Given the description of an element on the screen output the (x, y) to click on. 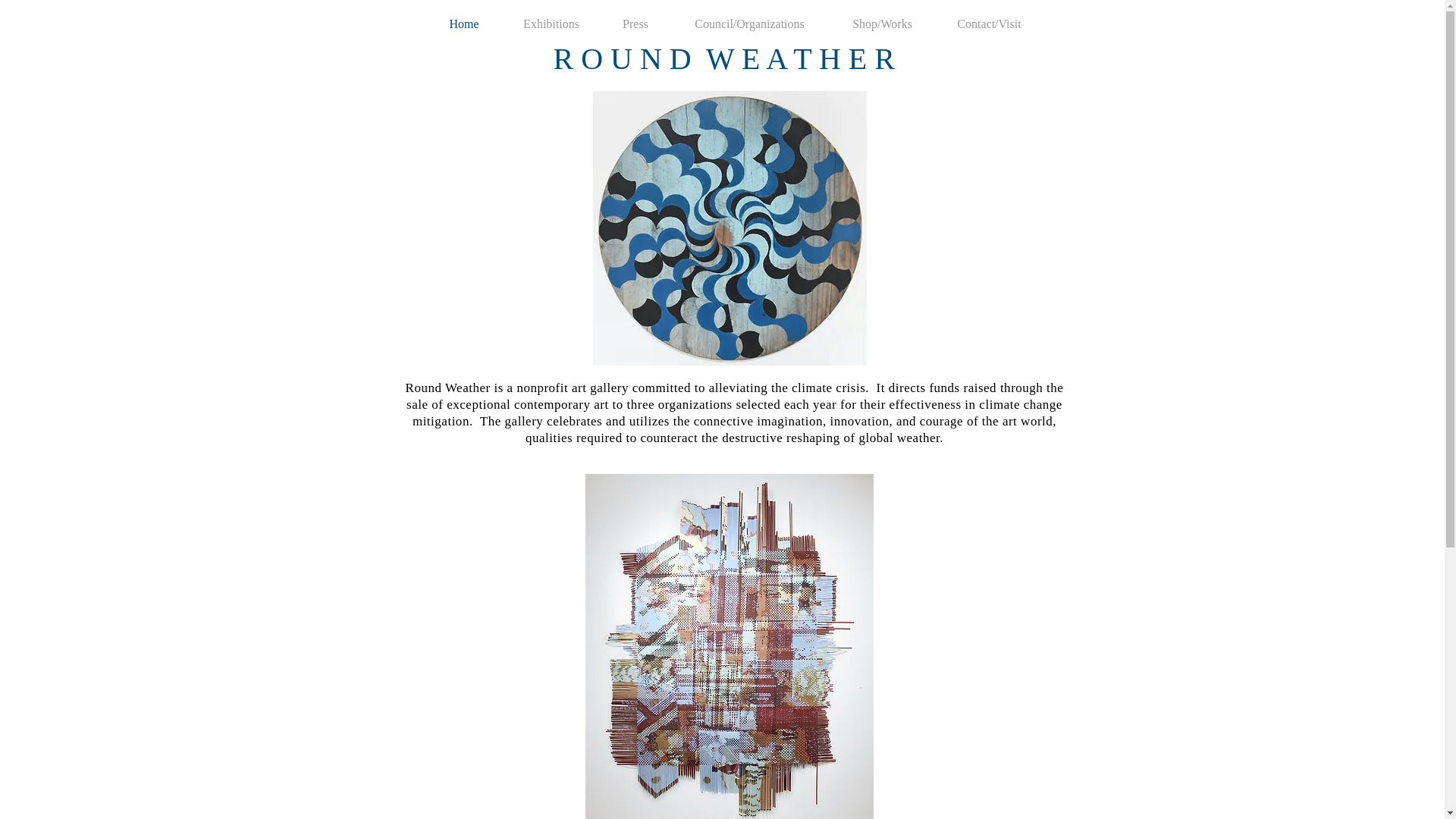
Exhibitions (551, 23)
Press (634, 23)
Home (463, 23)
